Given the description of an element on the screen output the (x, y) to click on. 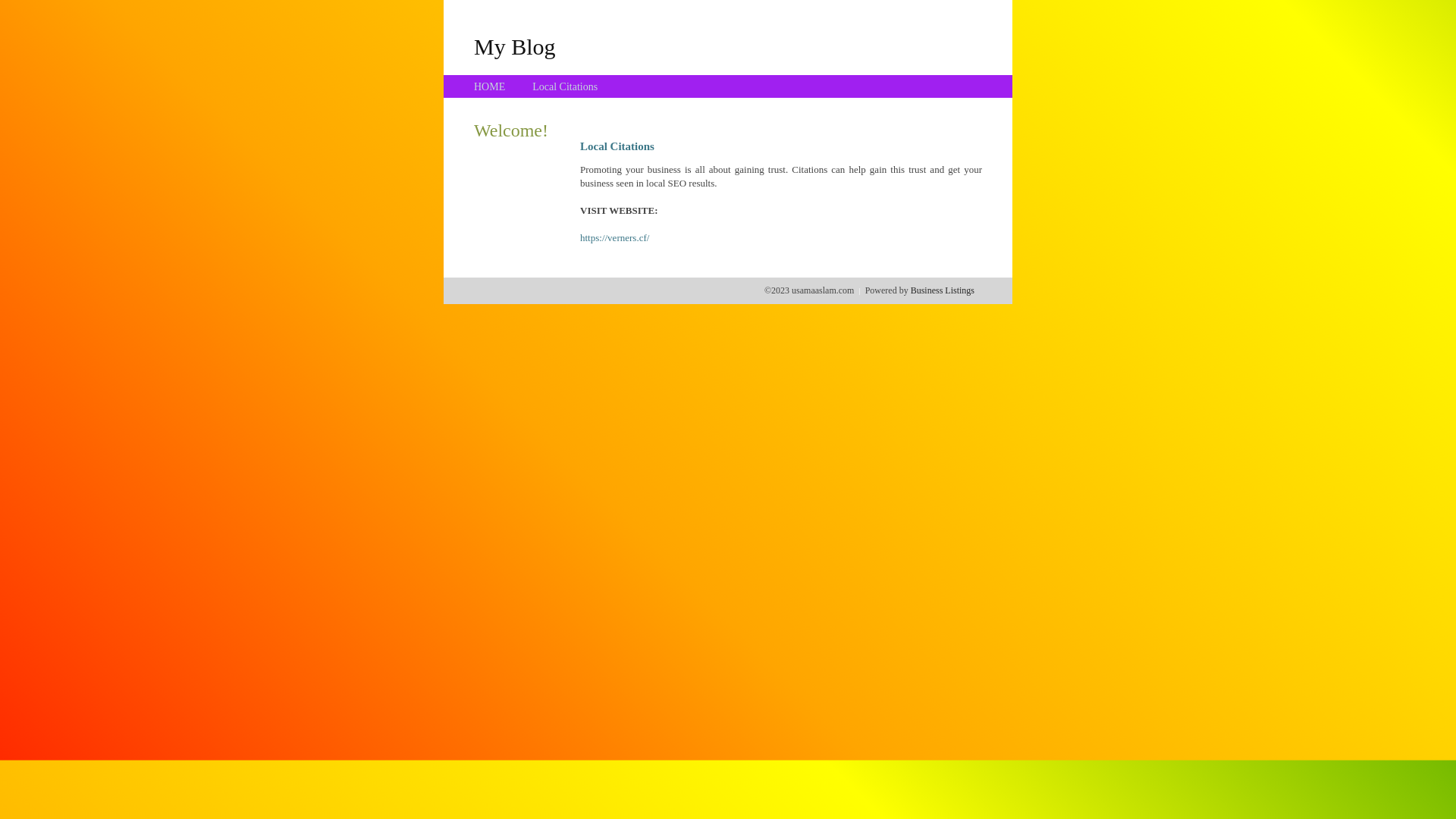
https://verners.cf/ Element type: text (614, 237)
Business Listings Element type: text (942, 290)
Local Citations Element type: text (564, 86)
My Blog Element type: text (514, 46)
HOME Element type: text (489, 86)
